Given the description of an element on the screen output the (x, y) to click on. 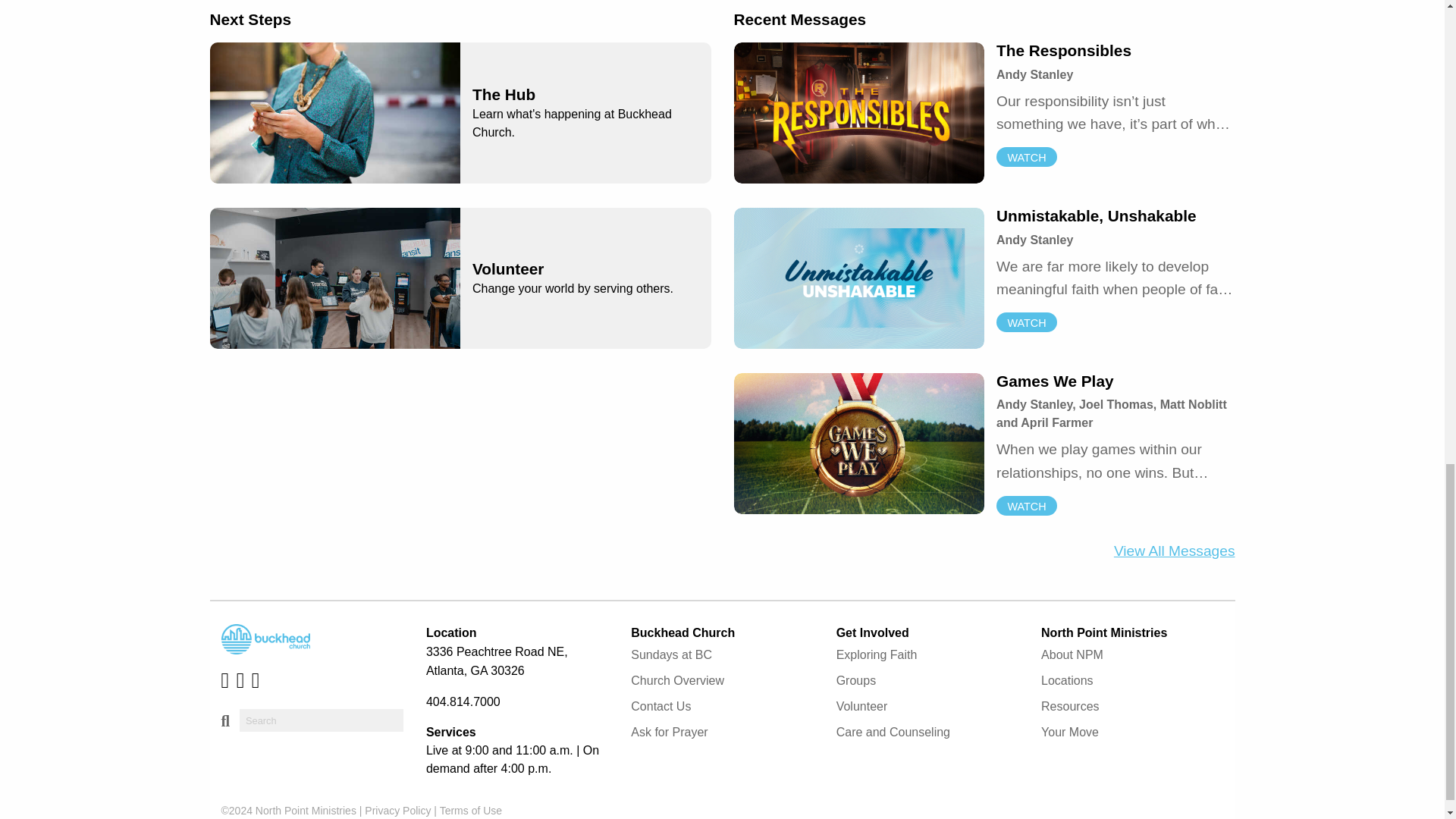
Sundays at BC (459, 278)
Church Overview (721, 655)
WATCH (721, 680)
View All Messages (1026, 322)
WATCH (1173, 550)
WATCH (1026, 505)
